Given the description of an element on the screen output the (x, y) to click on. 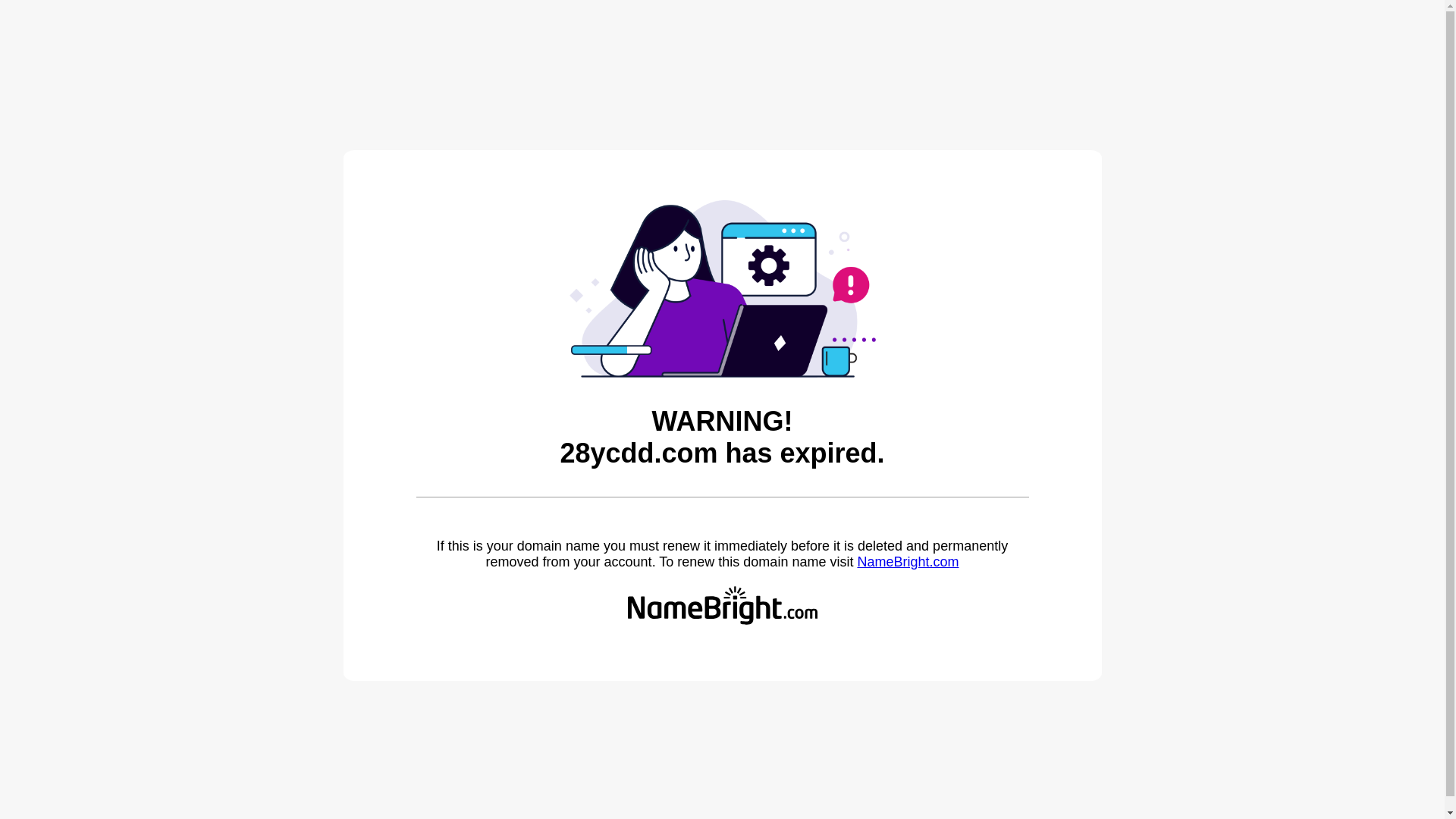
NameBright.com Element type: text (907, 561)
